Given the description of an element on the screen output the (x, y) to click on. 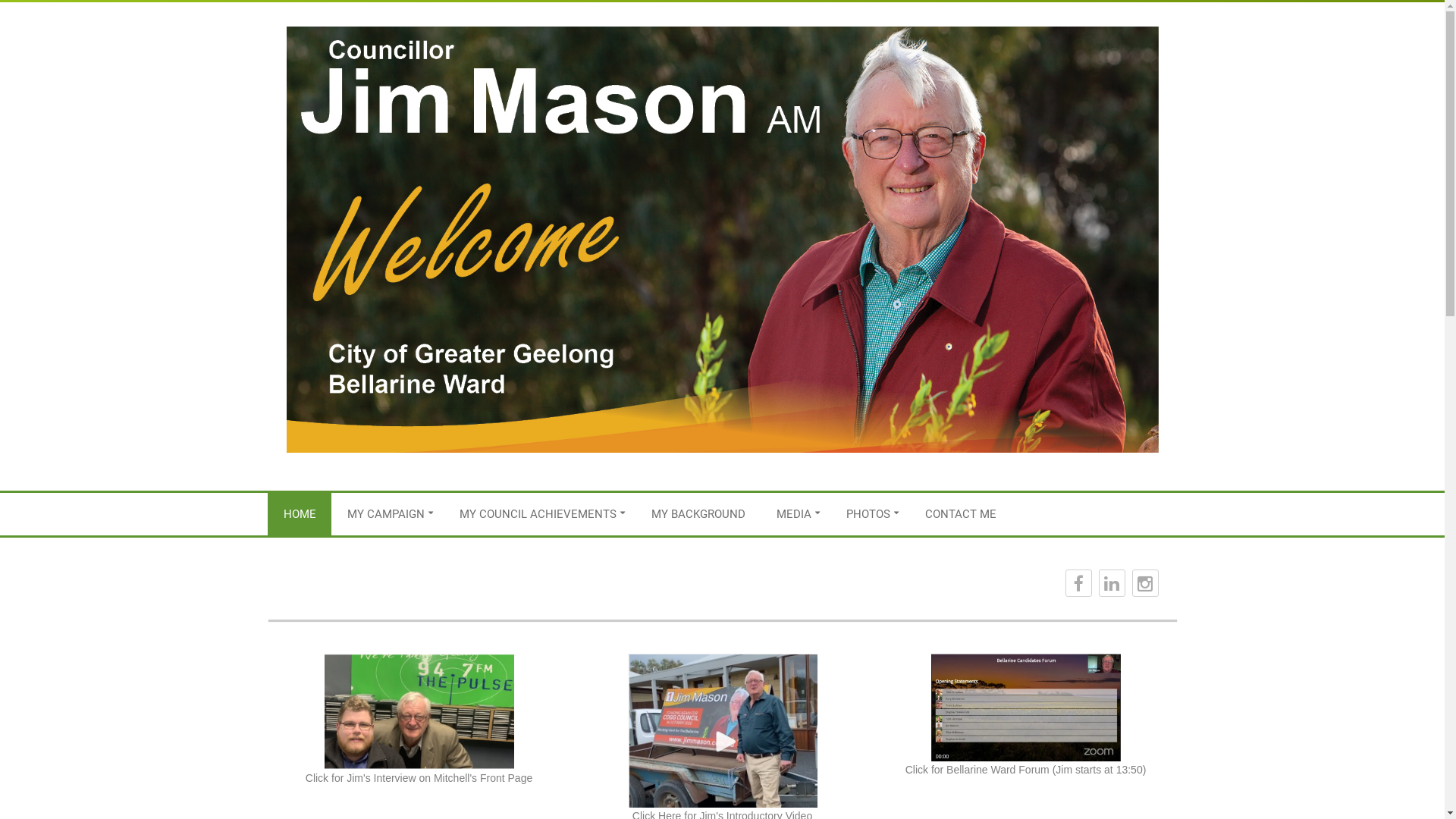
Link to Bellarine Ward Forum Element type: hover (1025, 707)
HOME Element type: text (299, 513)
Link to Interview with Mitchell Dye Element type: hover (419, 711)
MY COUNCIL ACHIEVEMENTS Element type: text (539, 513)
MEDIA Element type: text (795, 513)
PHOTOS Element type: text (870, 513)
CONTACT ME Element type: text (960, 513)
MY BACKGROUND Element type: text (697, 513)
Link to Jim's Intro Video on Instagram Element type: hover (722, 730)
MY CAMPAIGN Element type: text (387, 513)
